Given the description of an element on the screen output the (x, y) to click on. 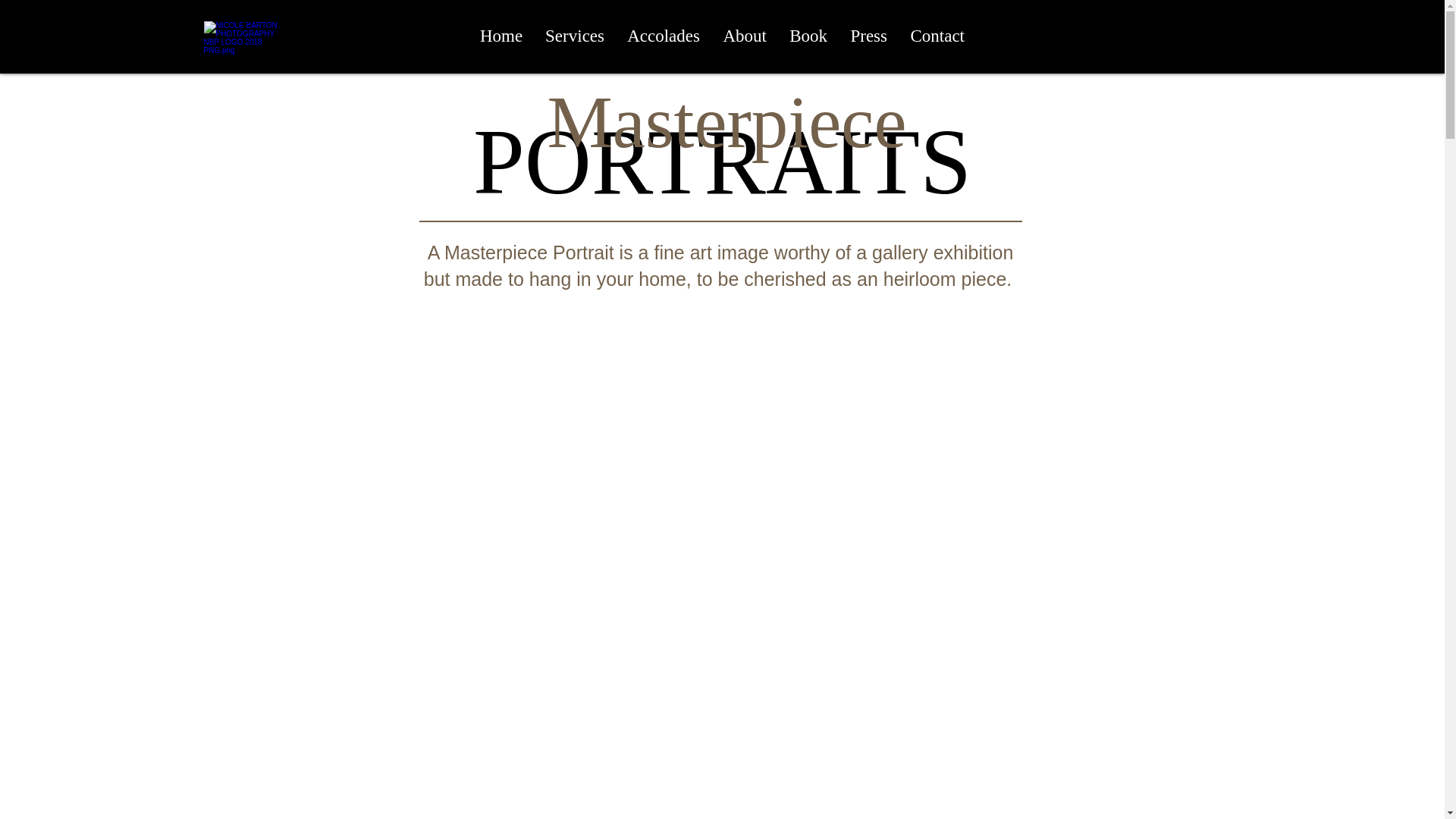
Press (868, 35)
Home (501, 35)
Contact (936, 35)
Accolades (663, 35)
Book (807, 35)
About (744, 35)
Services (574, 35)
